Given the description of an element on the screen output the (x, y) to click on. 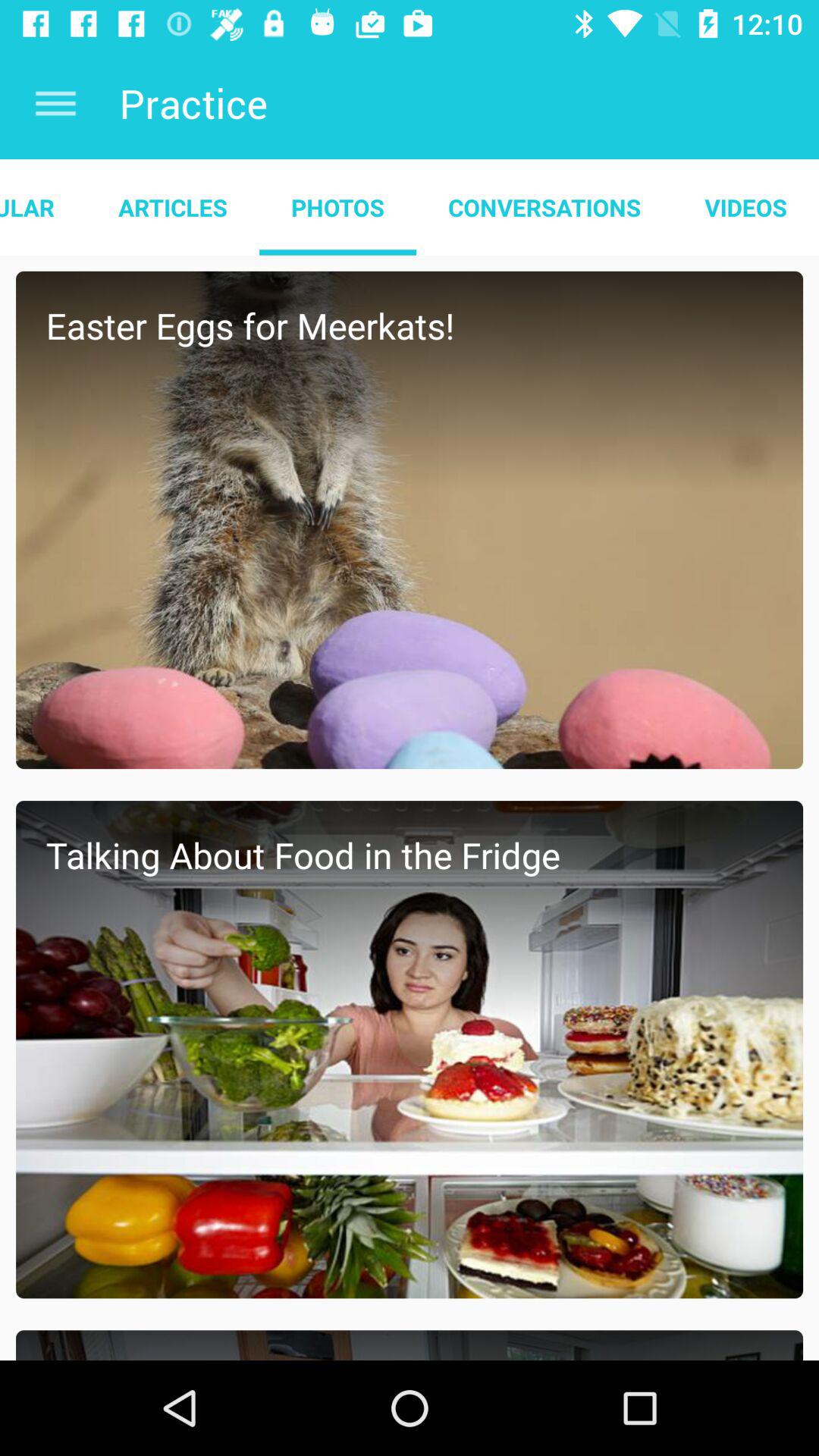
select the icon next to the photos icon (172, 207)
